Given the description of an element on the screen output the (x, y) to click on. 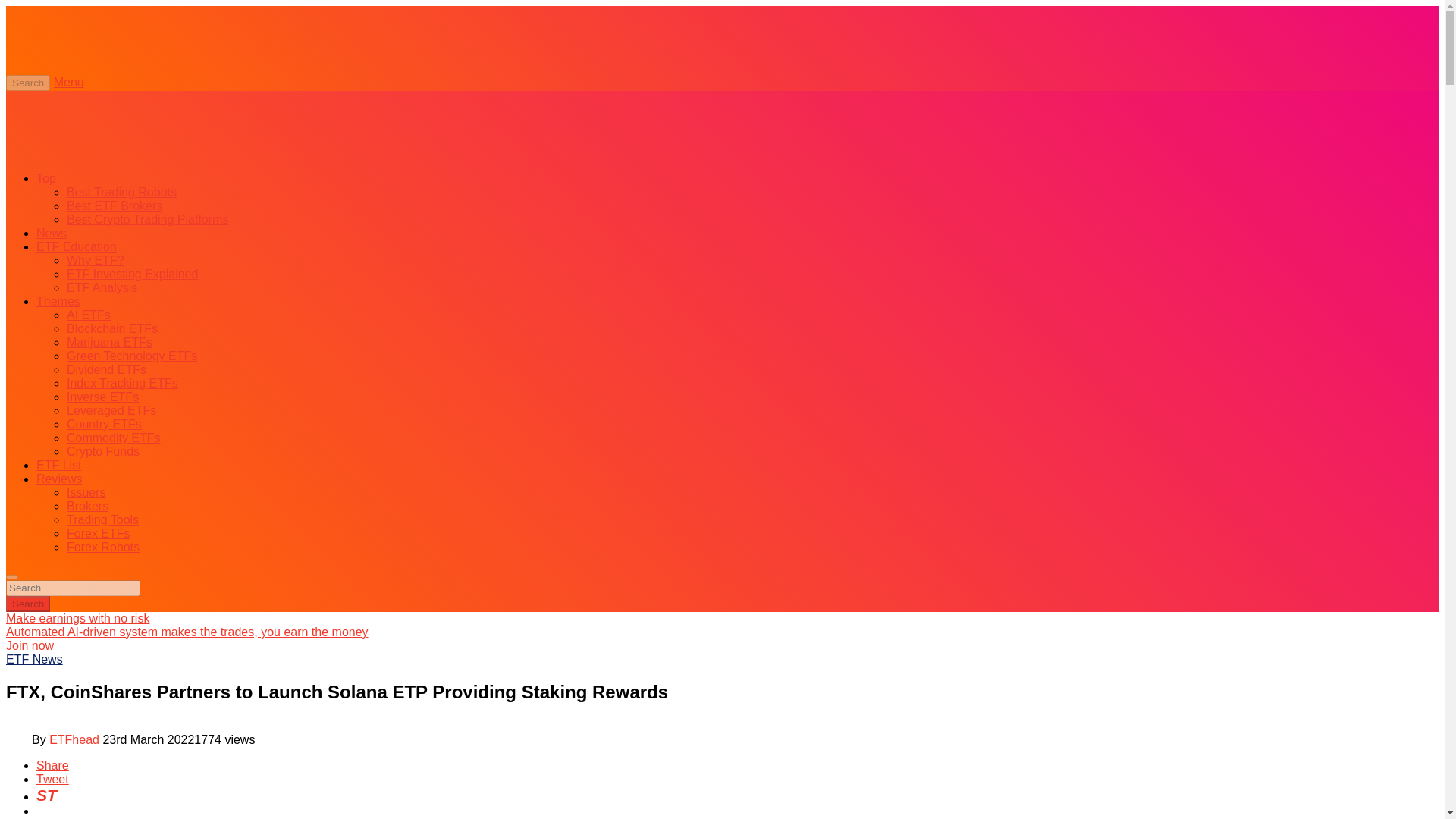
Blockchain ETFs (111, 328)
Country ETFs (103, 423)
Issuers (86, 492)
Forex ETFs (98, 533)
ETF Investing Explained (132, 273)
Best Crypto Trading Platforms (147, 219)
Brokers (86, 505)
Dividend ETFs (106, 369)
Search (27, 82)
Green Technology ETFs (131, 355)
Leveraged ETFs (110, 410)
Forex Robots (102, 546)
ETF List (58, 464)
Search (27, 603)
Menu (68, 82)
